Given the description of an element on the screen output the (x, y) to click on. 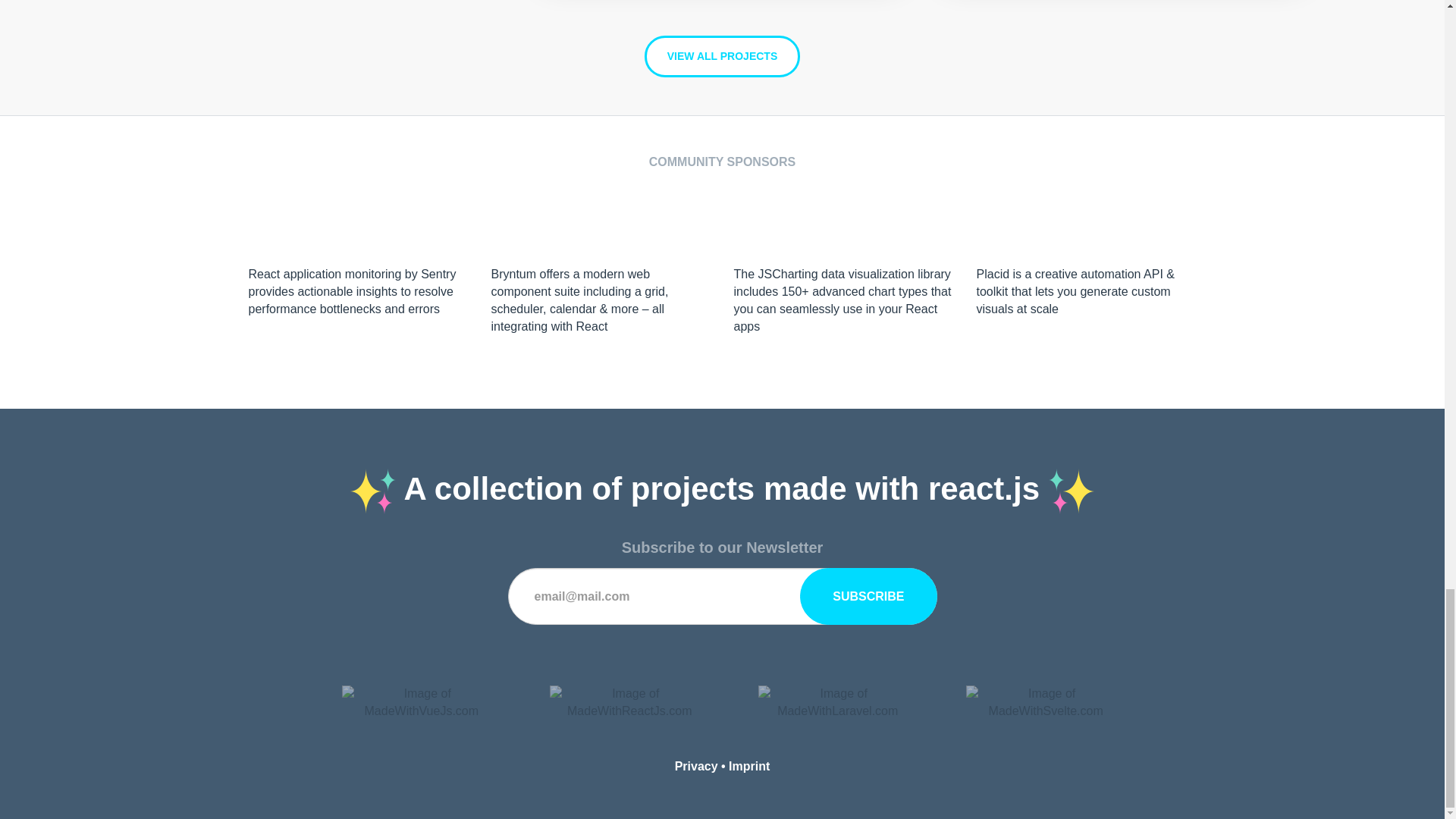
VIEW ALL PROJECTS (722, 56)
icon-sparkles-left Created with Sketch. (373, 491)
Subscribe (867, 596)
icon-sparkles-right Created with Sketch. (1071, 491)
